Given the description of an element on the screen output the (x, y) to click on. 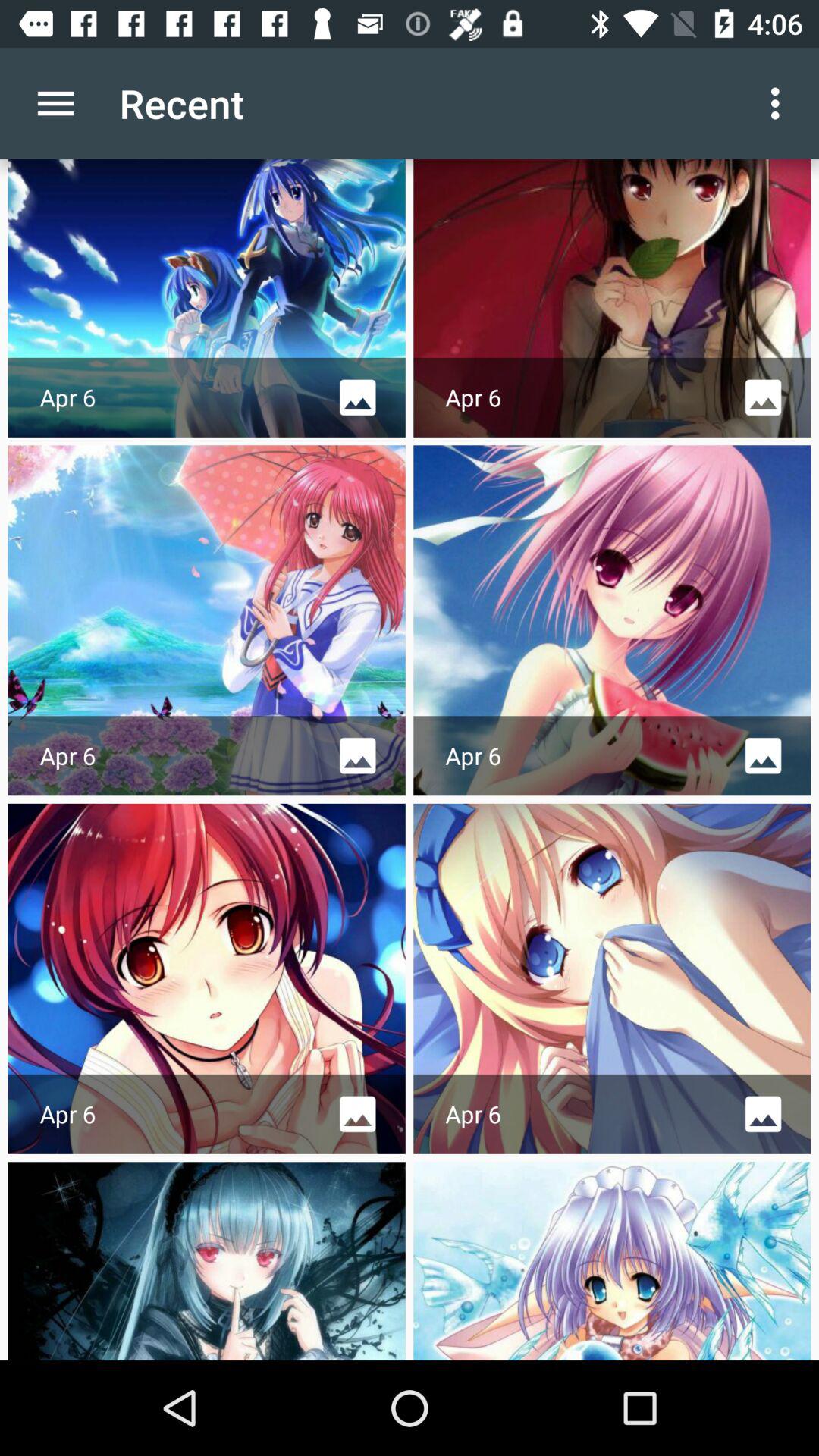
turn on app to the left of recent item (55, 103)
